Given the description of an element on the screen output the (x, y) to click on. 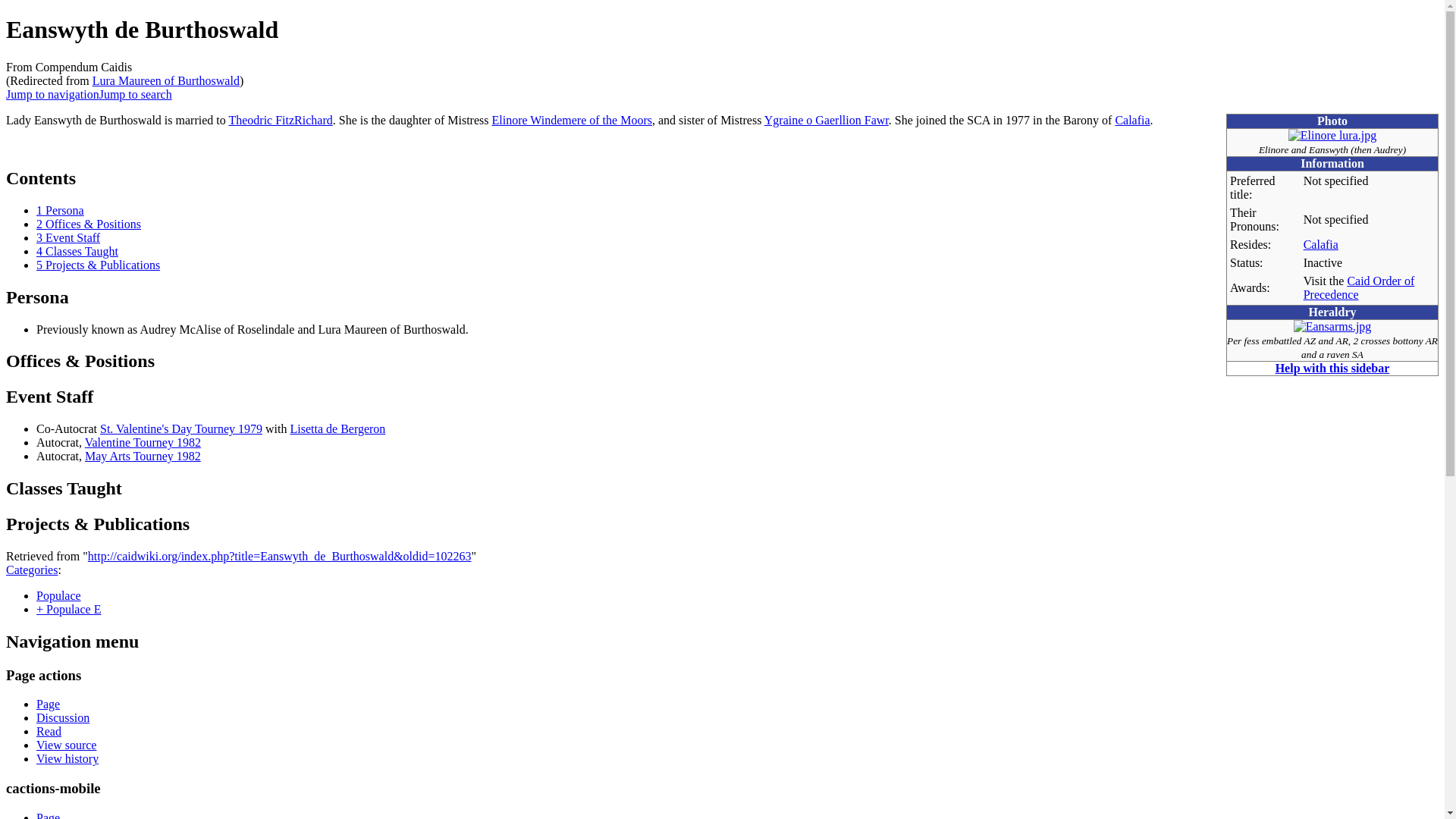
Categories (31, 569)
Ygraine o Gaerllion Fawr (826, 119)
Read (48, 730)
Lisetta de Bergeron (337, 428)
4 Classes Taught (76, 250)
Discussion (62, 717)
St. Valentine's Day Tourney 1979 (181, 428)
Valentine Tourney 1982 (142, 441)
Lura Maureen of Burthoswald (166, 80)
Theodric FitzRichard (279, 119)
